Given the description of an element on the screen output the (x, y) to click on. 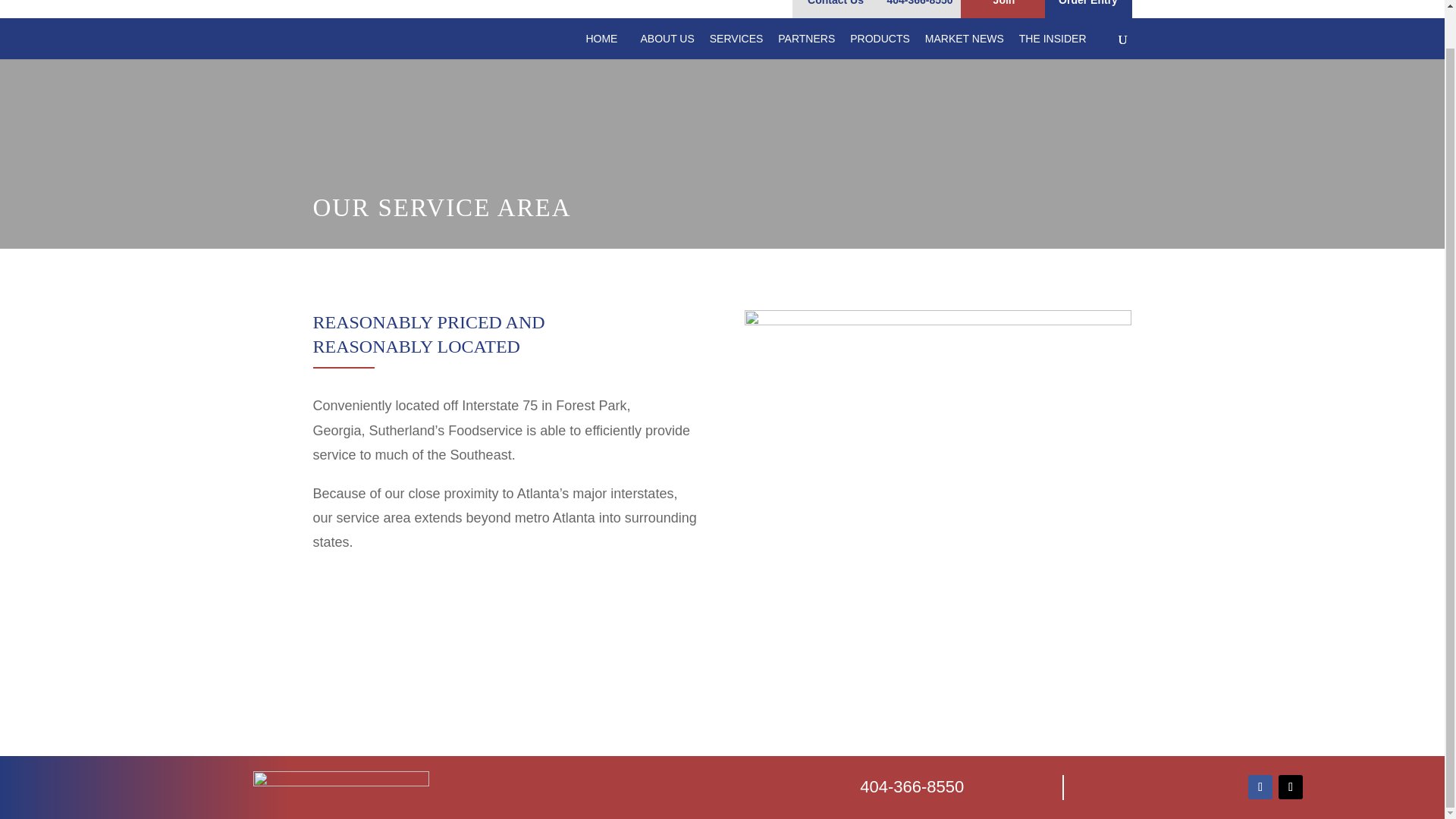
PRODUCTS (887, 45)
HOME (601, 45)
Contact Us (835, 9)
Order Entry (1088, 9)
404-366-8550 (919, 9)
ABOUT US (674, 45)
Follow on X (1290, 786)
BECOME A MEMBER (865, 676)
MARKET NEWS (971, 45)
PARTNERS (813, 45)
